Given the description of an element on the screen output the (x, y) to click on. 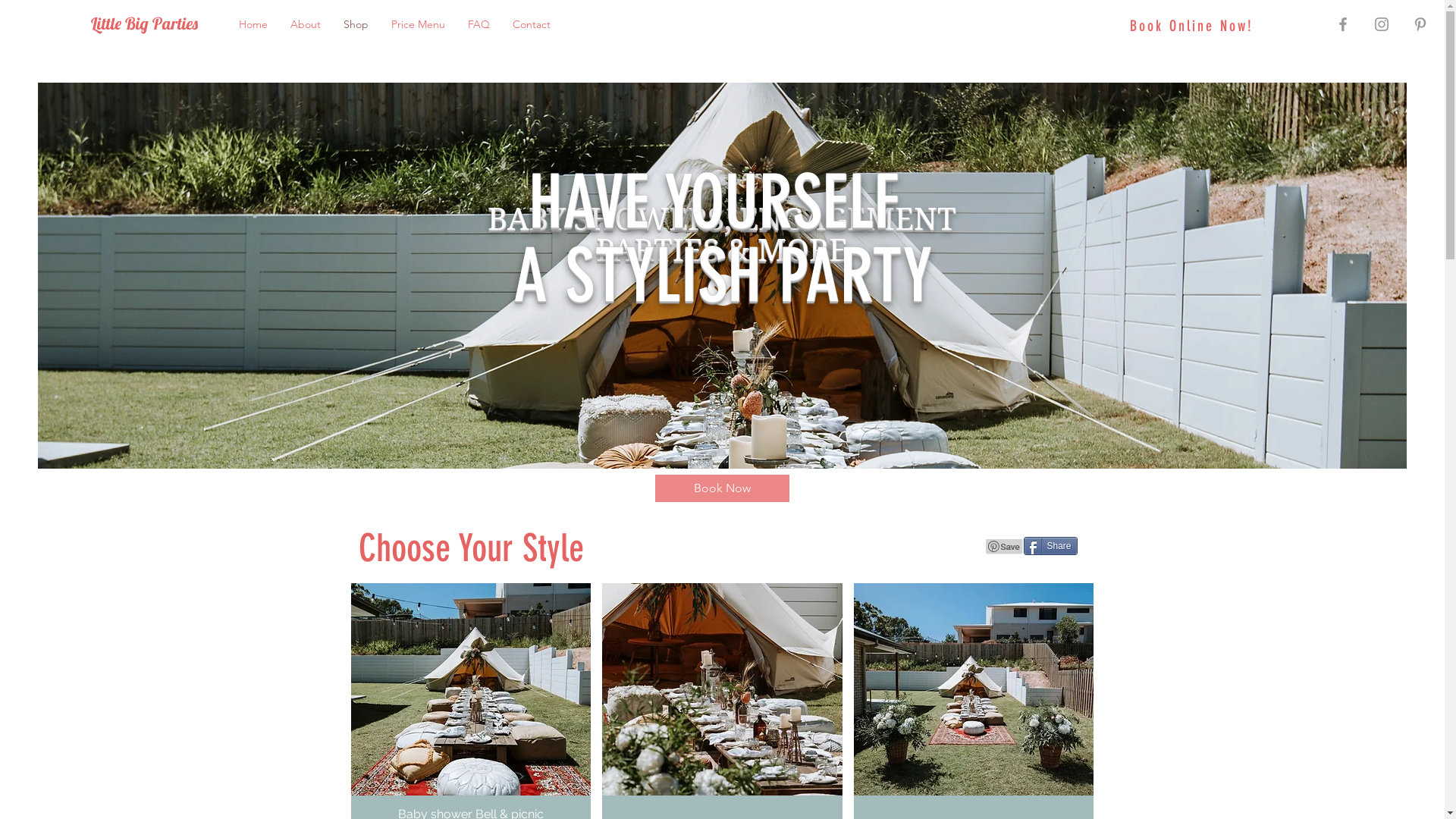
Contact Element type: text (531, 24)
Price Menu Element type: text (417, 24)
About Element type: text (305, 24)
FAQ Element type: text (478, 24)
Book Now Element type: text (721, 488)
Pin to Pinterest Element type: hover (1004, 546)
Little Big Parties Element type: text (145, 23)
Home Element type: text (253, 24)
Shop Element type: text (355, 24)
Share Element type: text (1050, 545)
